Given the description of an element on the screen output the (x, y) to click on. 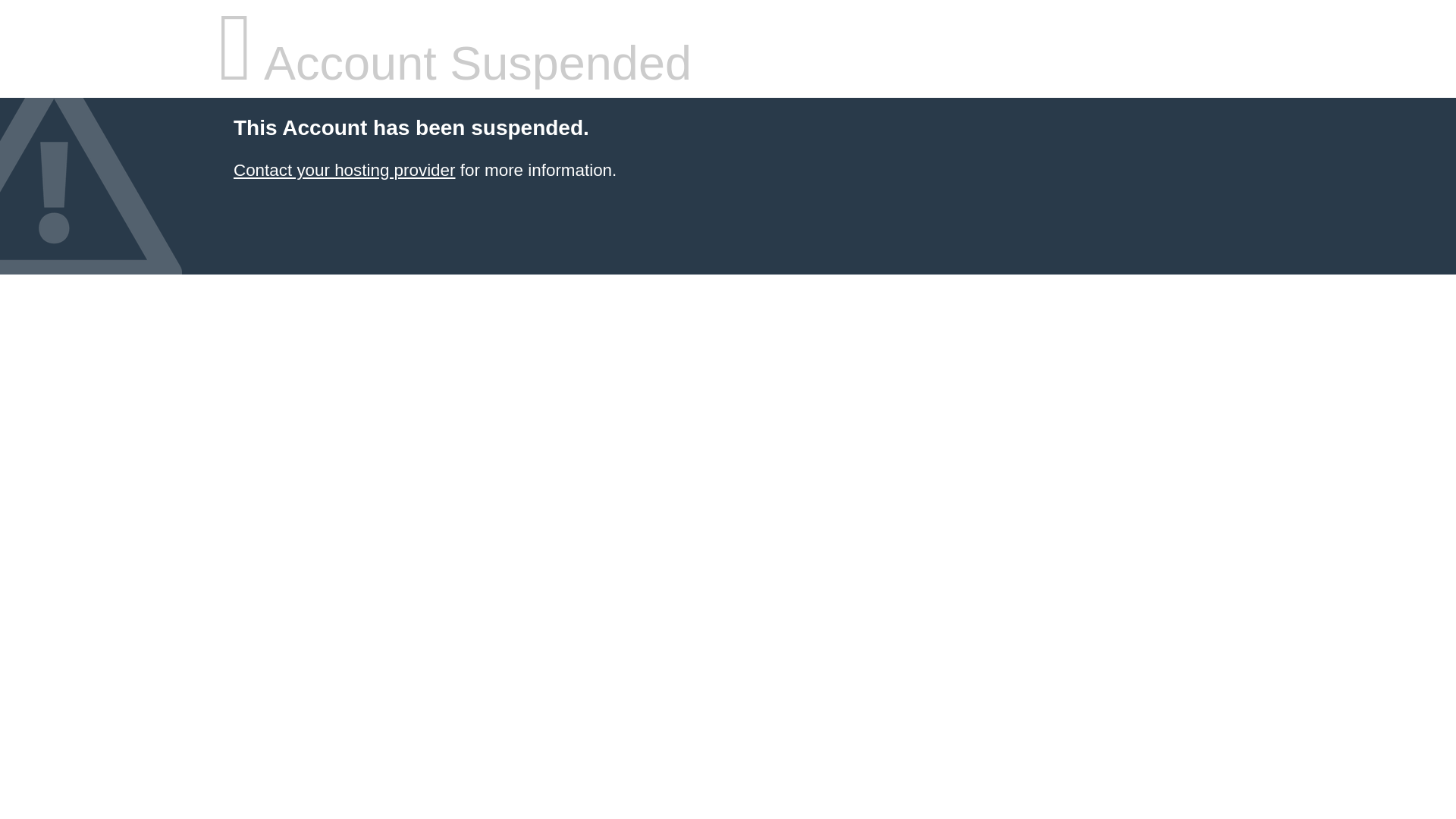
Contact your hosting provider (343, 169)
